Given the description of an element on the screen output the (x, y) to click on. 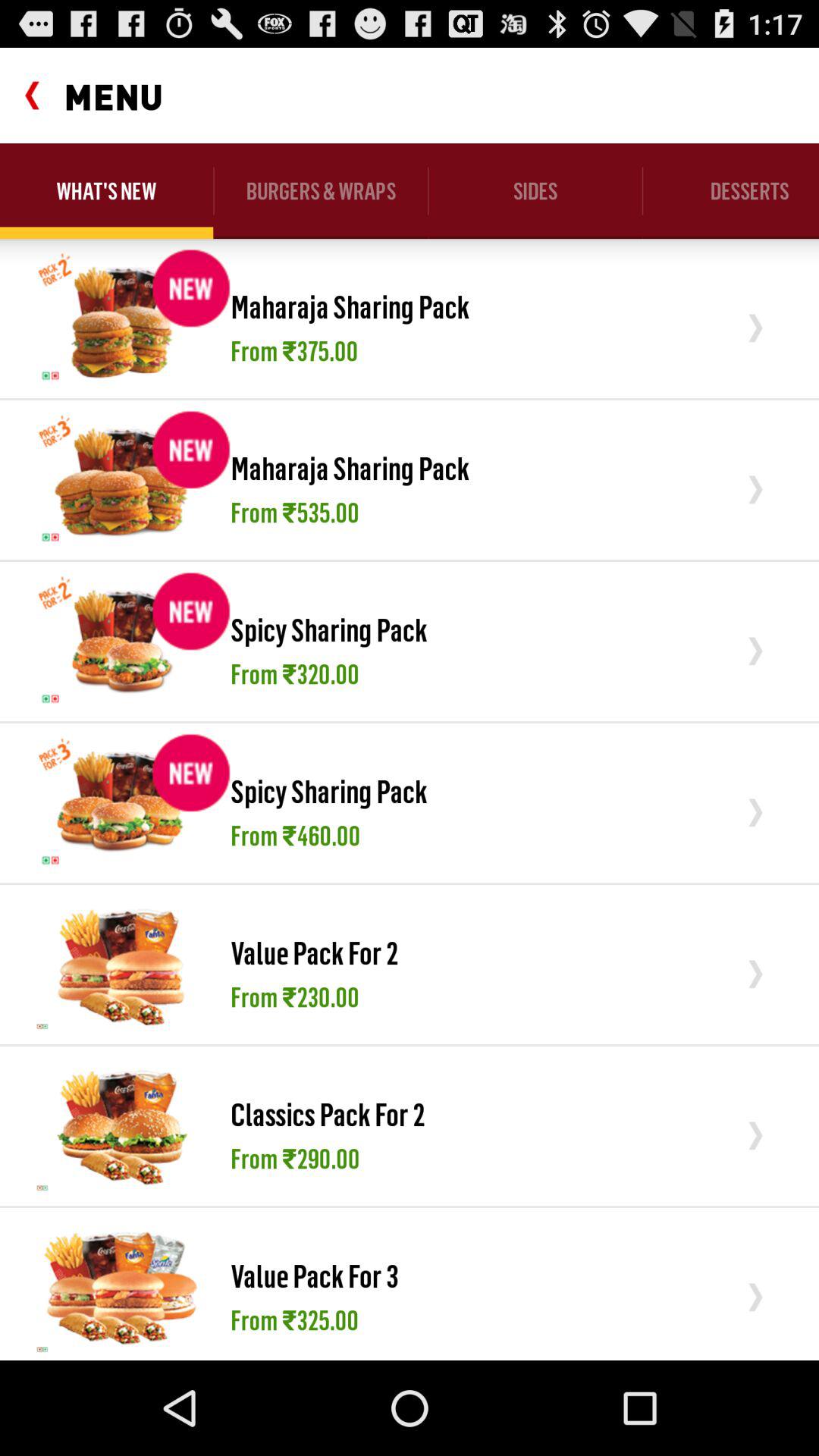
turn on the icon below maharaja sharing pack item (294, 512)
